Given the description of an element on the screen output the (x, y) to click on. 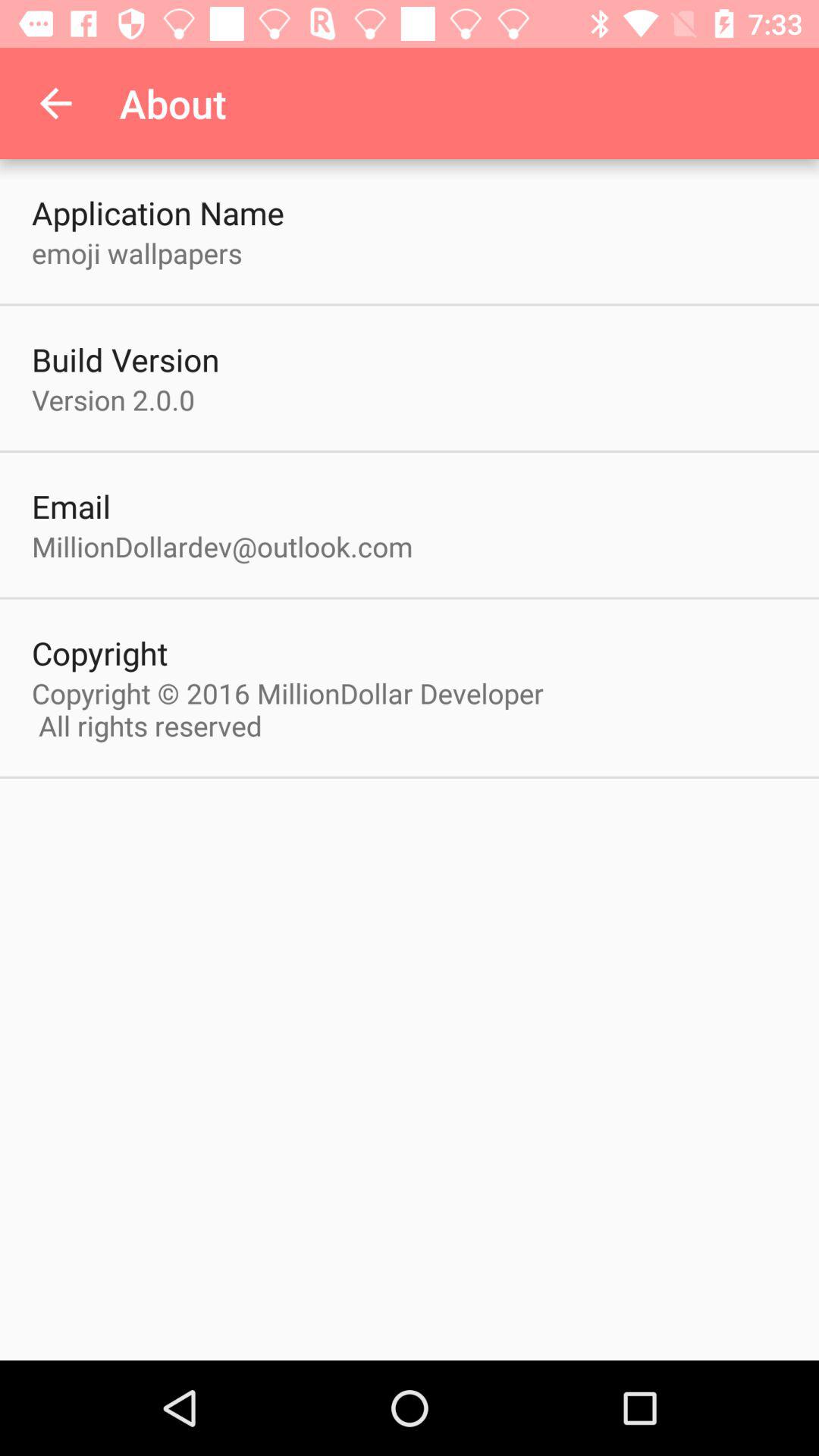
tap item below the copyright (295, 709)
